Given the description of an element on the screen output the (x, y) to click on. 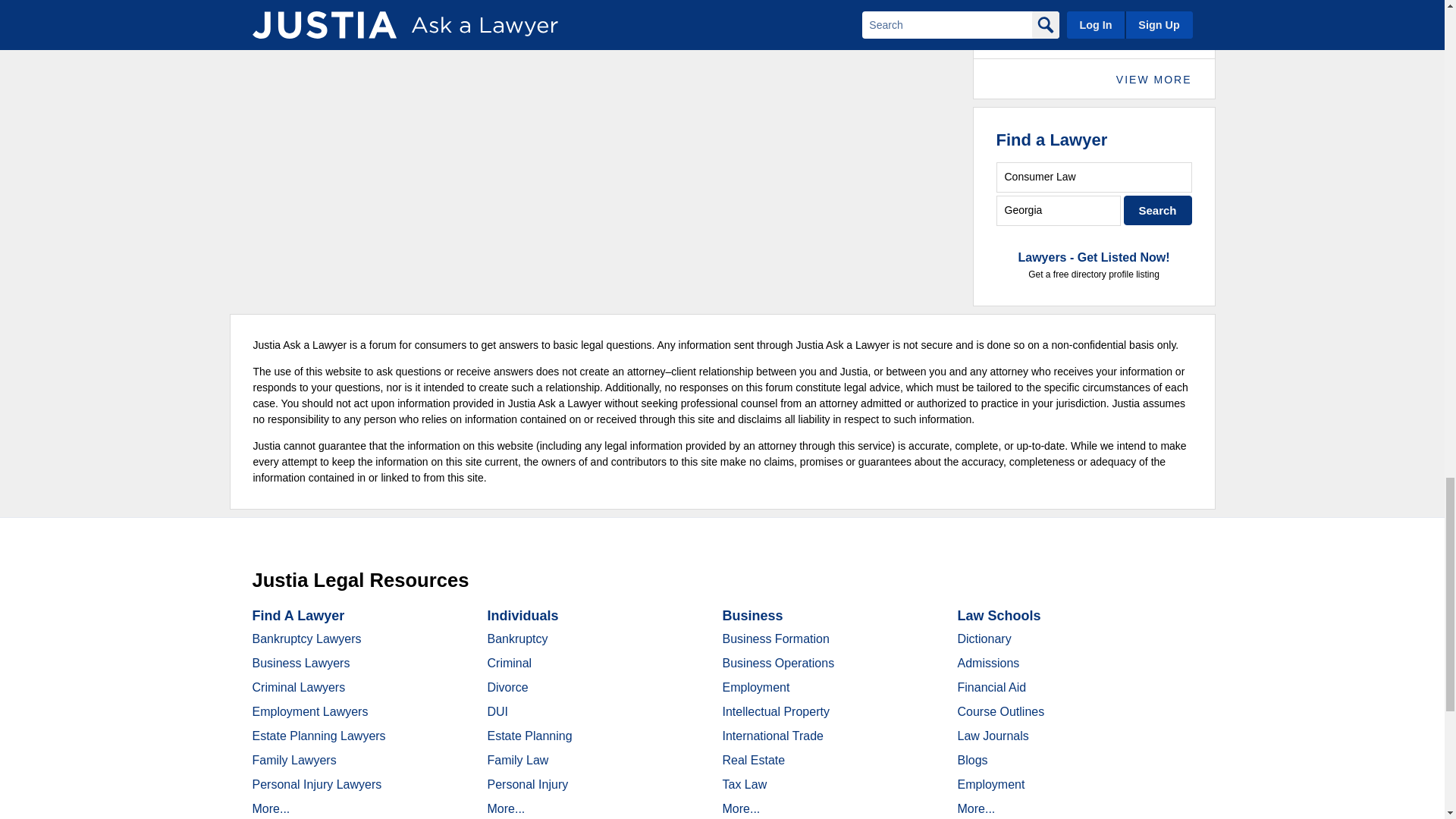
Legal Issue or Lawyer Name (1093, 176)
Ask a Lawyer - Leaderboard - Lawyer Stats (1127, 11)
Ask a Lawyer - Leaderboard - Lawyer Photo (1021, 19)
City, State (1058, 210)
Georgia (1058, 210)
Search (1158, 210)
Consumer Law (1093, 176)
Search (1158, 210)
